Given the description of an element on the screen output the (x, y) to click on. 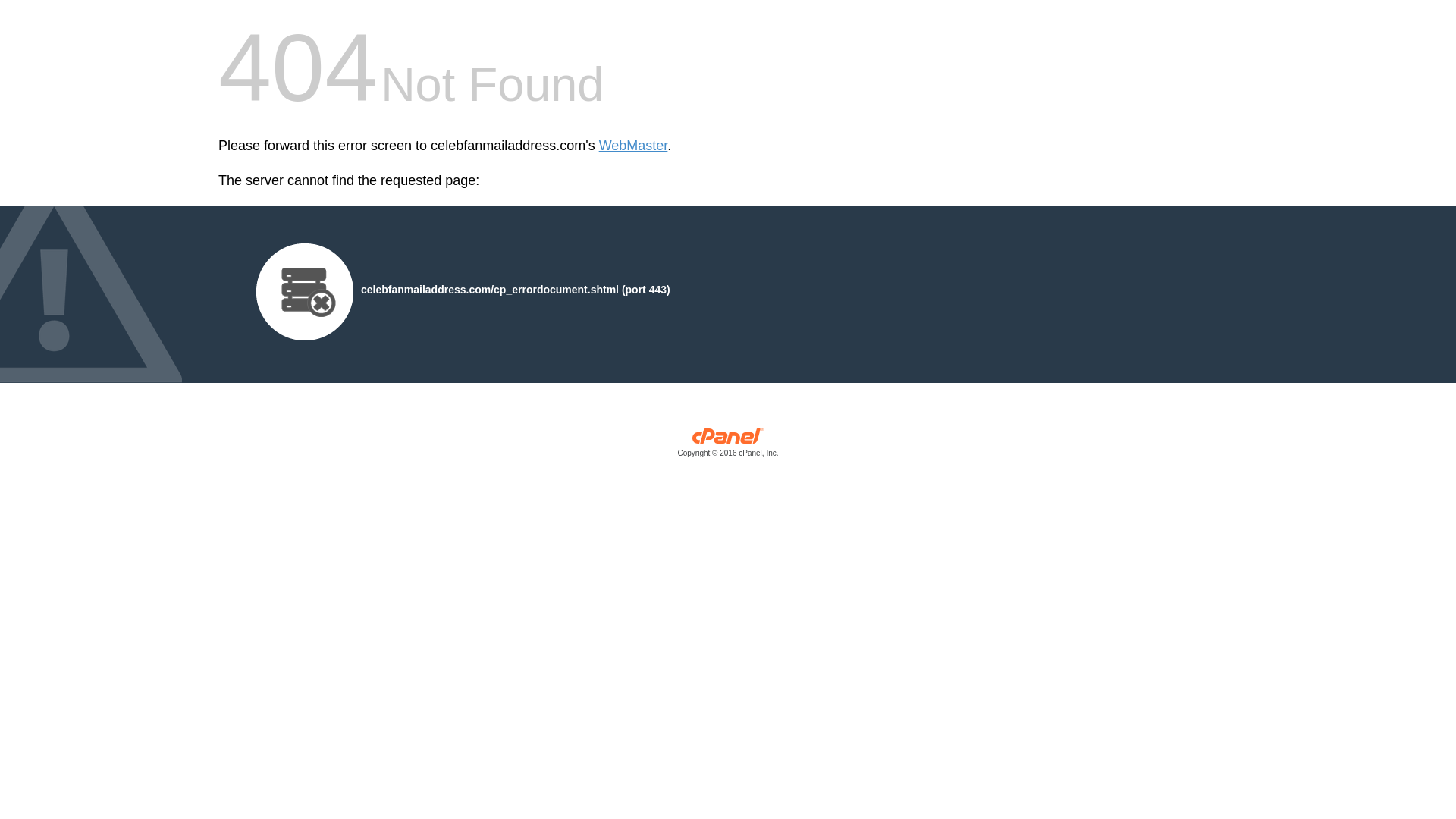
cPanel, Inc. (727, 446)
WebMaster (633, 145)
